Given the description of an element on the screen output the (x, y) to click on. 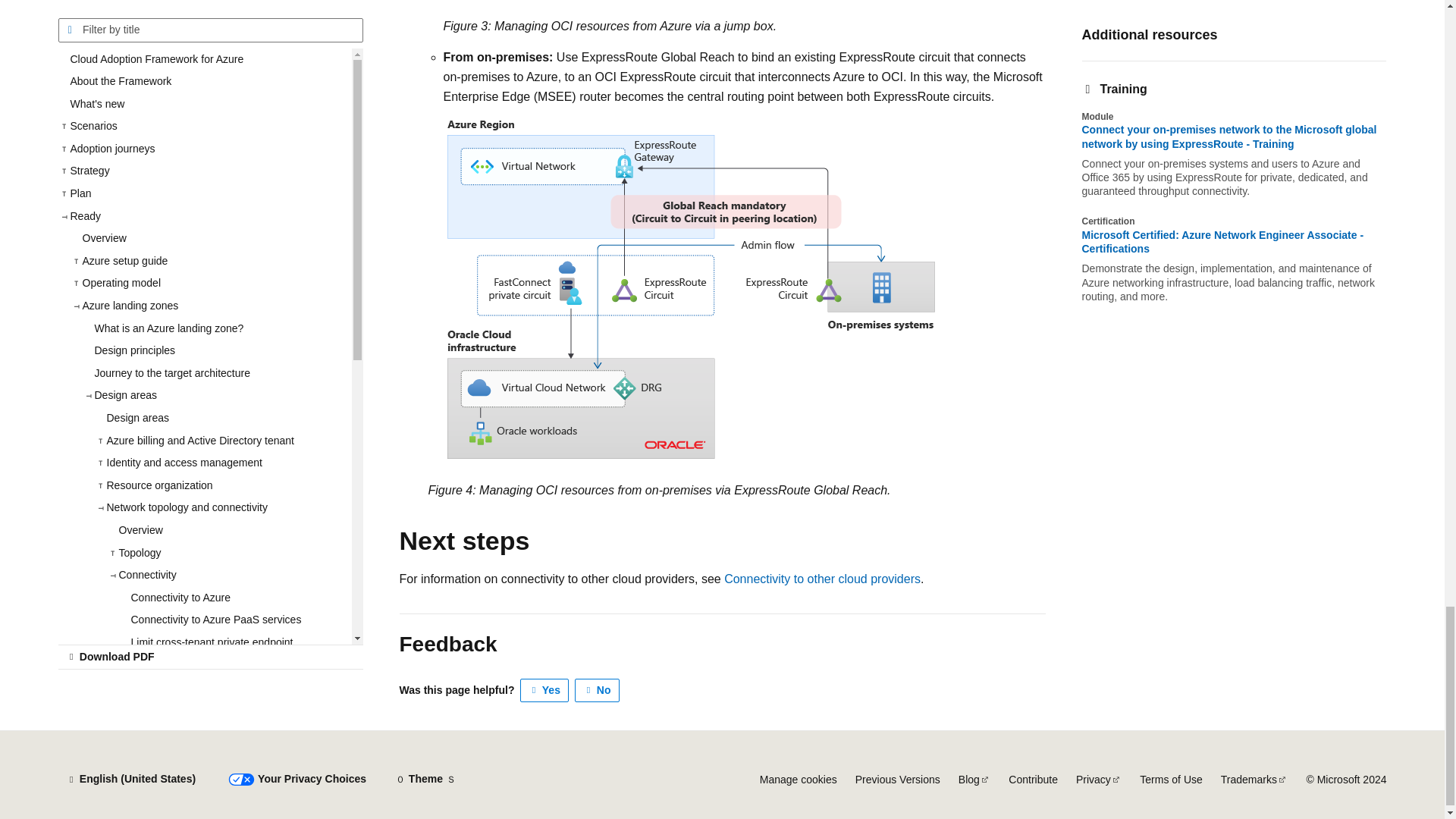
This article is not helpful (597, 690)
This article is helpful (544, 690)
Theme (425, 779)
